Given the description of an element on the screen output the (x, y) to click on. 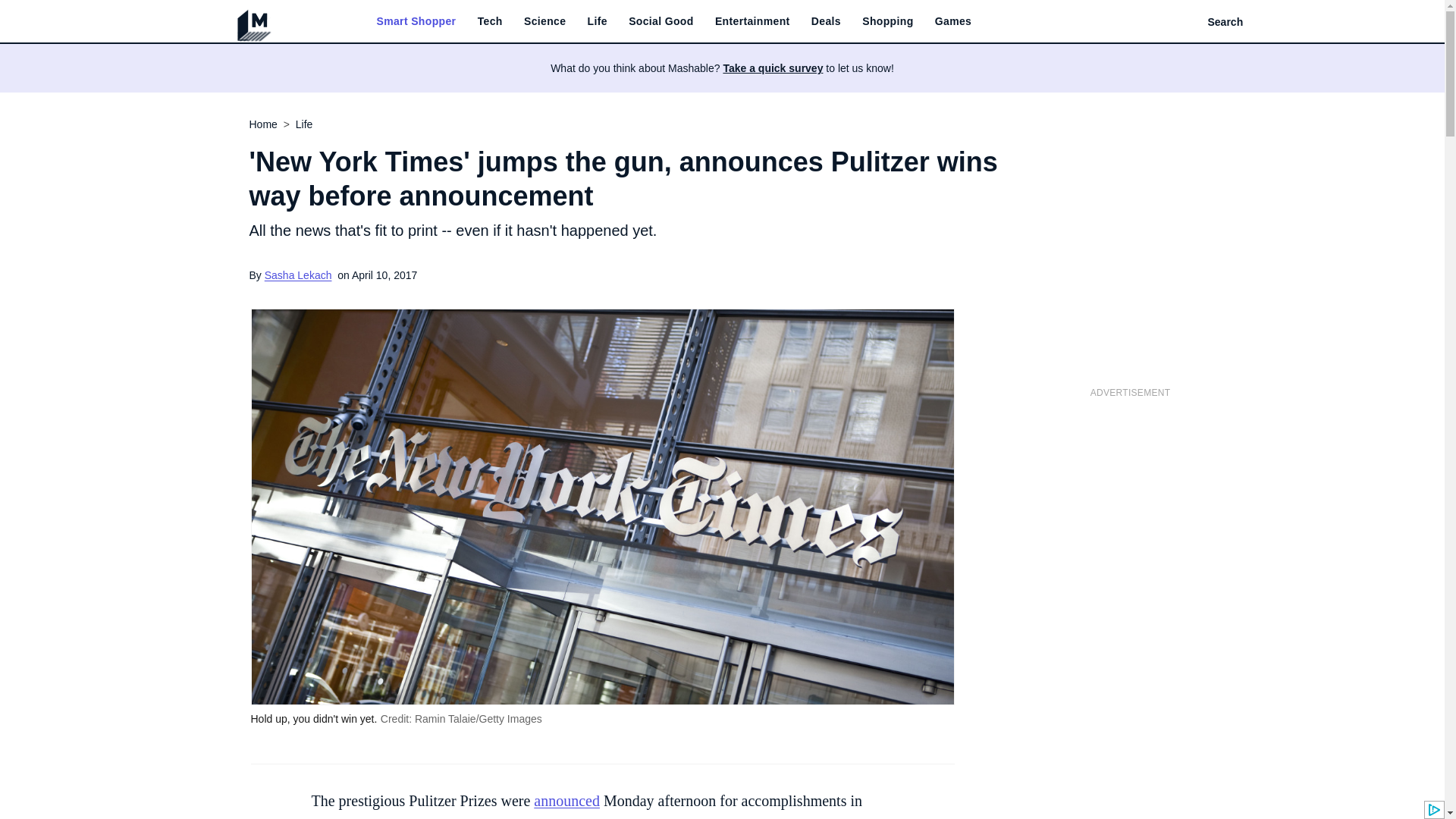
Social Good (661, 21)
Tech (489, 21)
Shopping (886, 21)
Science (545, 21)
Deals (825, 21)
Entertainment (752, 21)
Life (597, 21)
Smart Shopper (415, 21)
Games (952, 21)
